Given the description of an element on the screen output the (x, y) to click on. 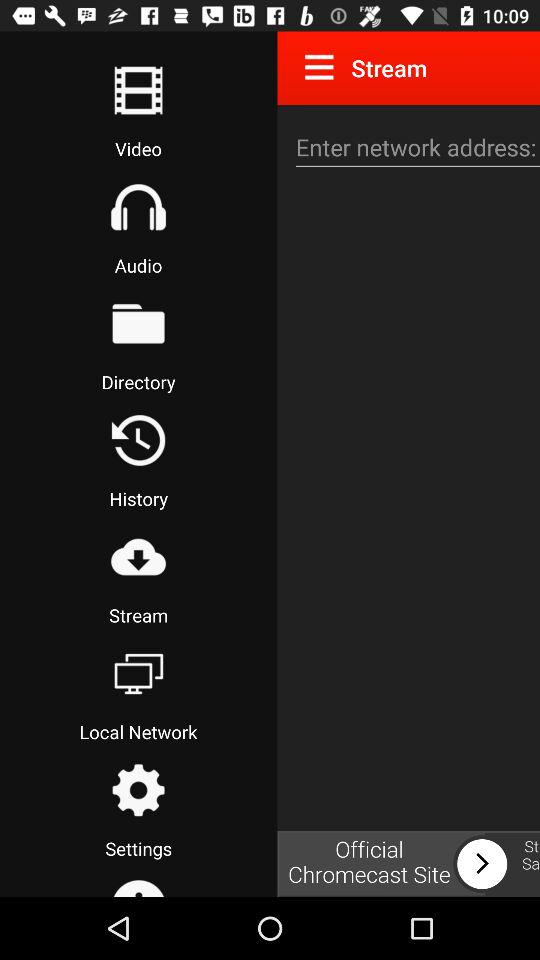
start streaming (138, 557)
